Given the description of an element on the screen output the (x, y) to click on. 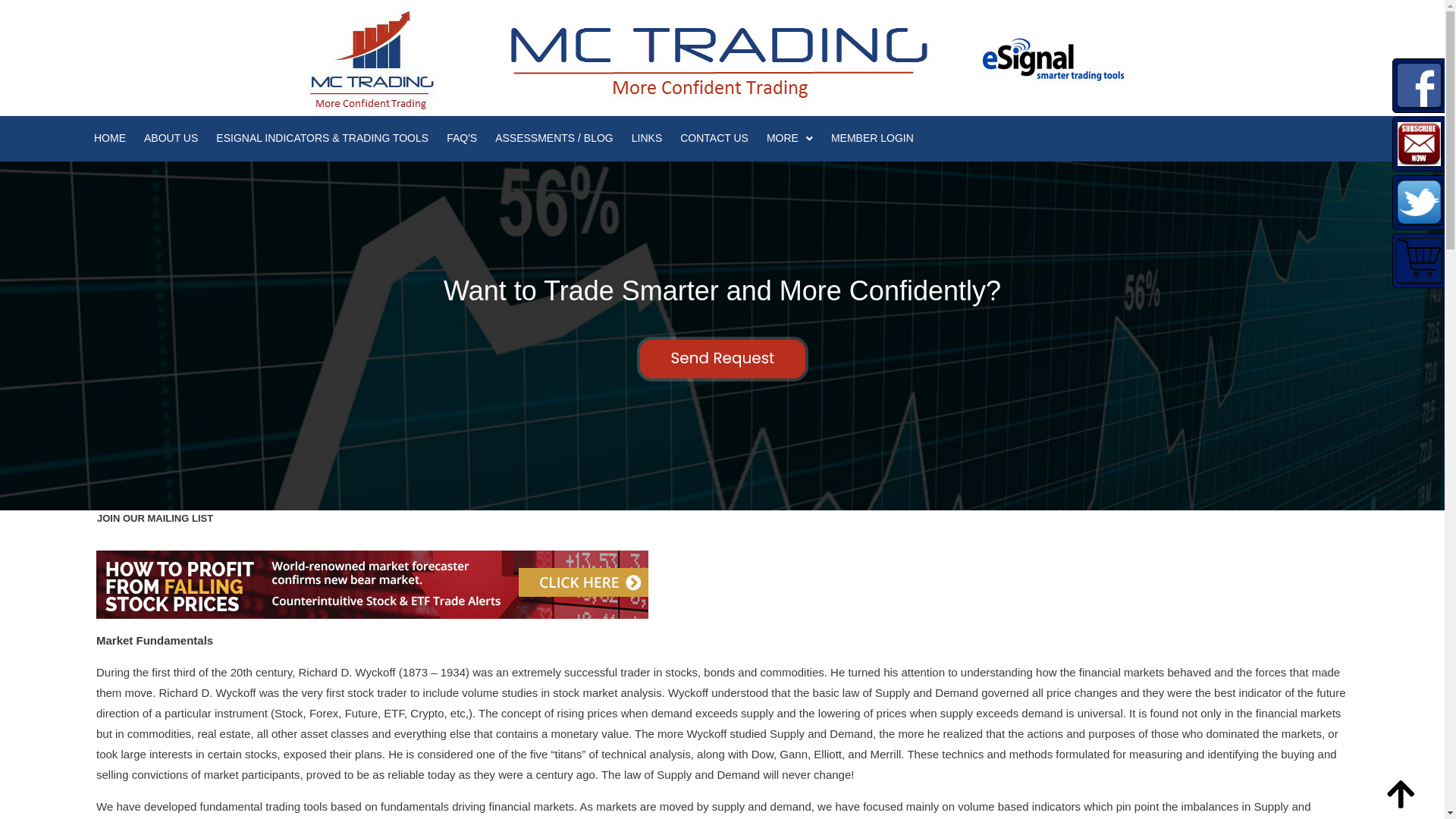
JOIN OUR MAILING LIST Element type: text (155, 518)
ABOUT US Element type: text (170, 138)
FAQ'S Element type: text (461, 138)
HOME Element type: text (109, 138)
ASSESSMENTS / BLOG Element type: text (554, 138)
ESIGNAL INDICATORS & TRADING TOOLS Element type: text (322, 138)
LINKS Element type: text (646, 138)
MORE Element type: text (789, 138)
CONTACT US Element type: text (714, 138)
MEMBER LOGIN Element type: text (872, 138)
